Given the description of an element on the screen output the (x, y) to click on. 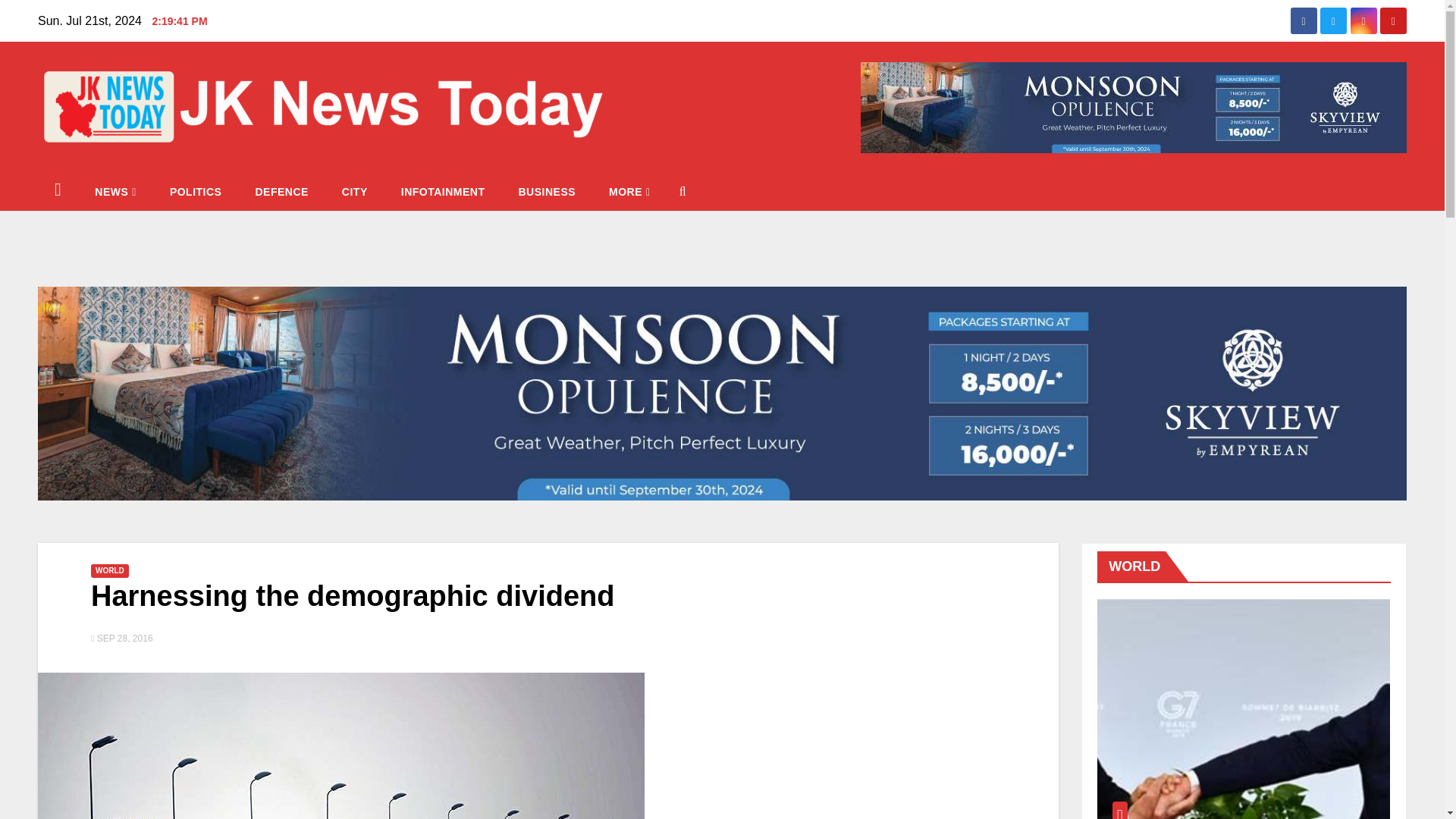
NEWS (115, 191)
WORLD (109, 571)
CITY (354, 191)
Permalink to: Harnessing the demographic dividend (352, 595)
INFOTAINMENT (443, 191)
BUSINESS (546, 191)
MORE (629, 191)
DEFENCE (281, 191)
POLITICS (195, 191)
